Given the description of an element on the screen output the (x, y) to click on. 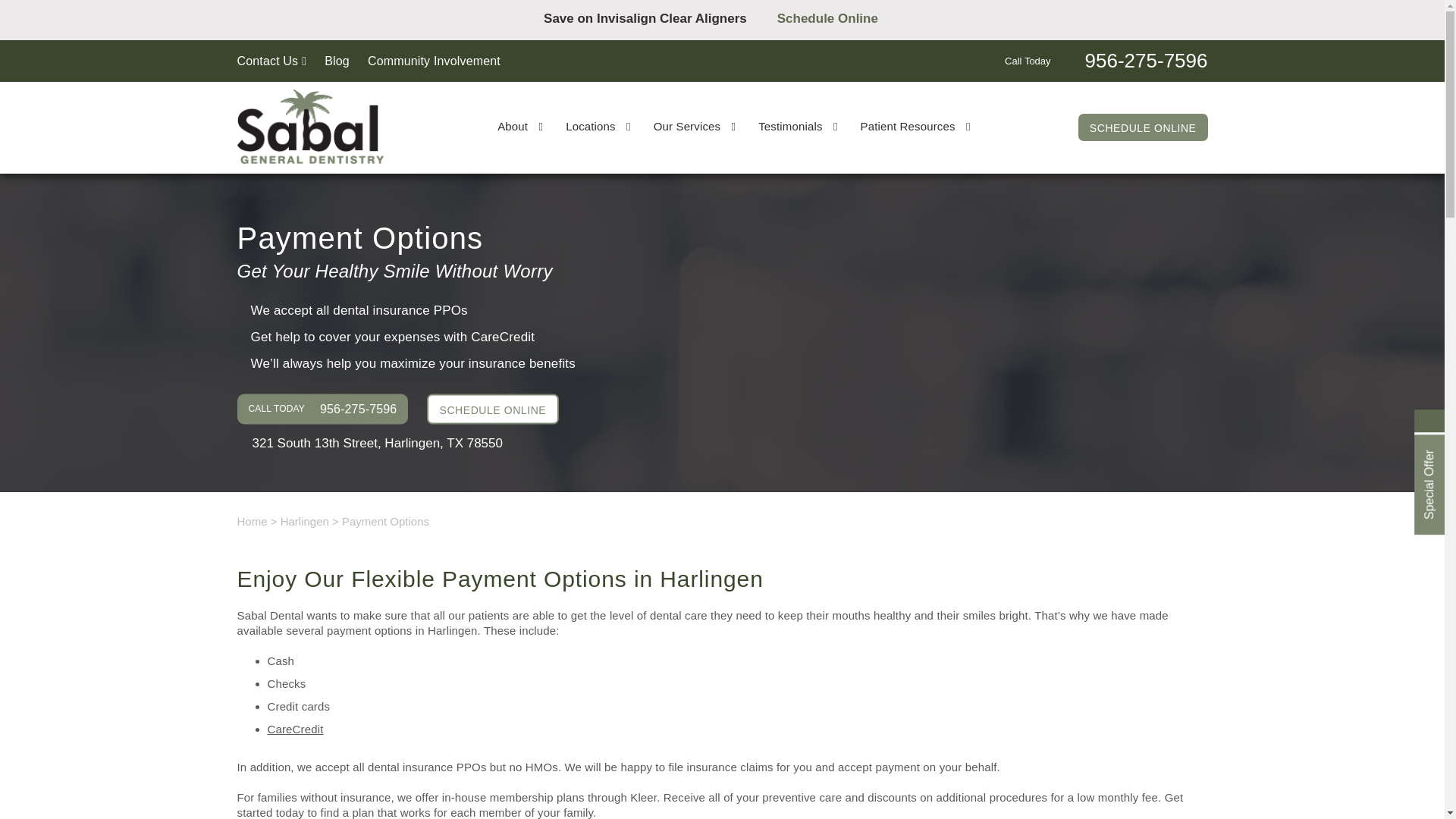
Contact Us (270, 60)
Save on Invisalign Clear Aligners (652, 18)
Community Involvement (434, 60)
Blog (336, 60)
Schedule Online (839, 18)
Locations (598, 126)
Call Today956-275-7596 (1105, 59)
